Given the description of an element on the screen output the (x, y) to click on. 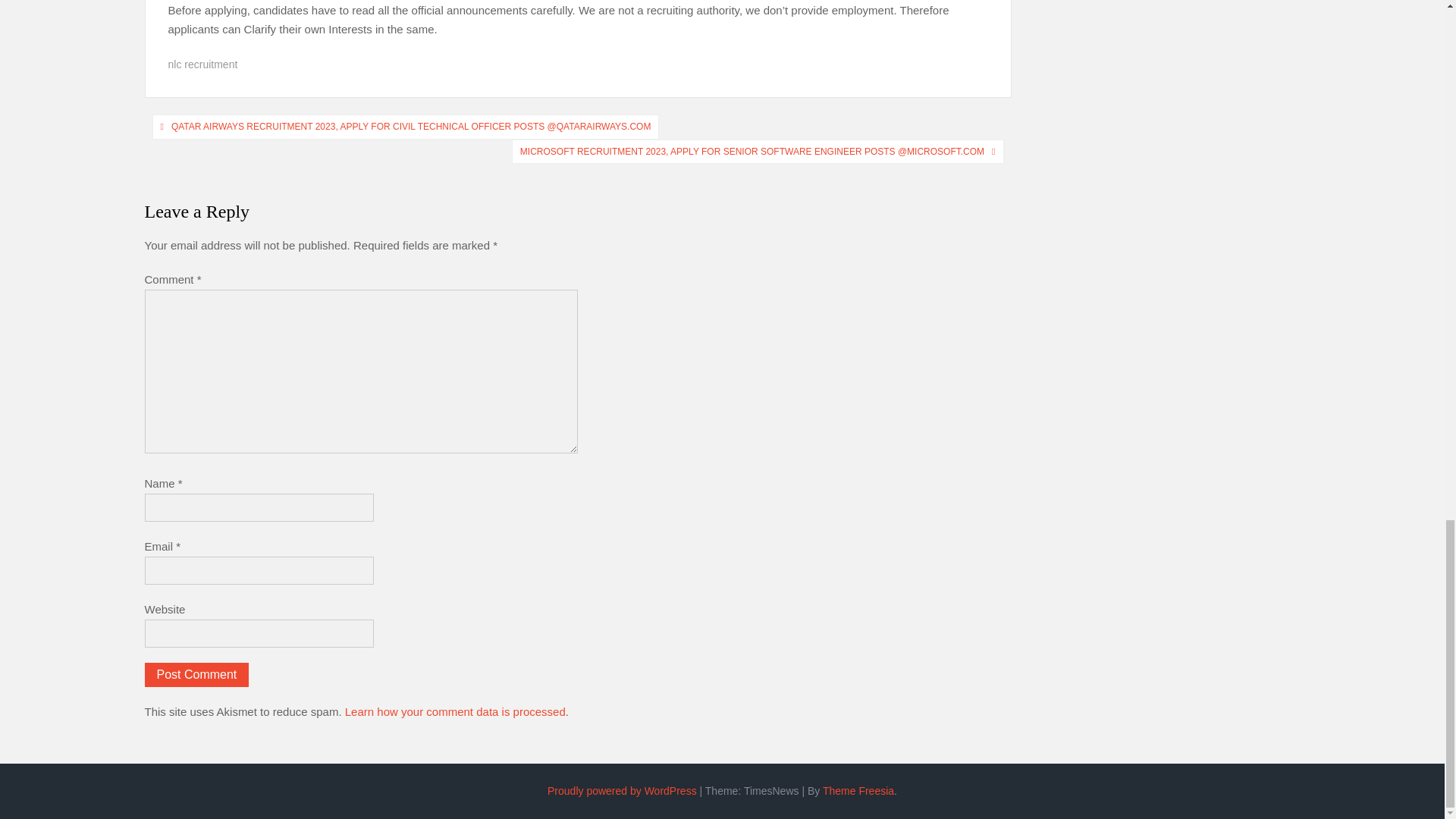
Post Comment (196, 674)
